Given the description of an element on the screen output the (x, y) to click on. 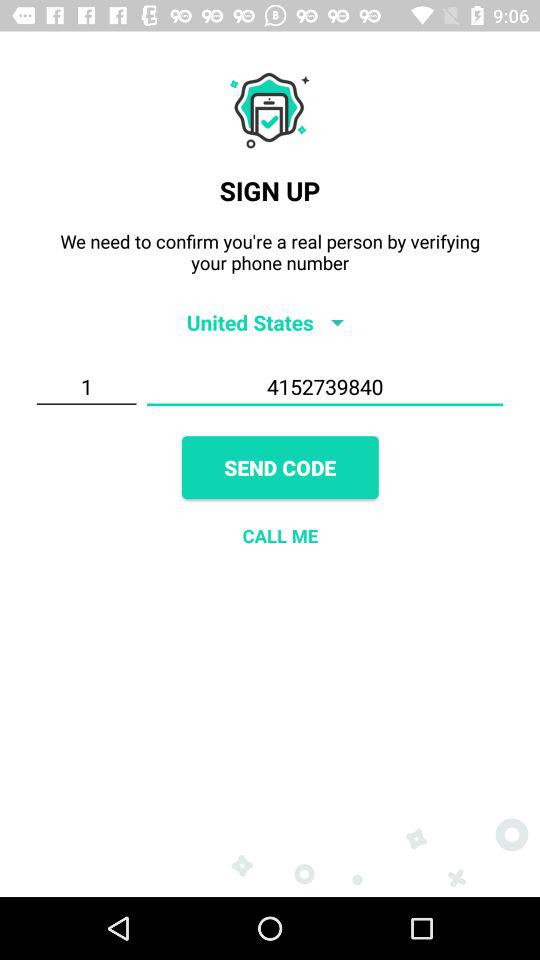
turn off the icon next to the 4152739840 icon (86, 387)
